Given the description of an element on the screen output the (x, y) to click on. 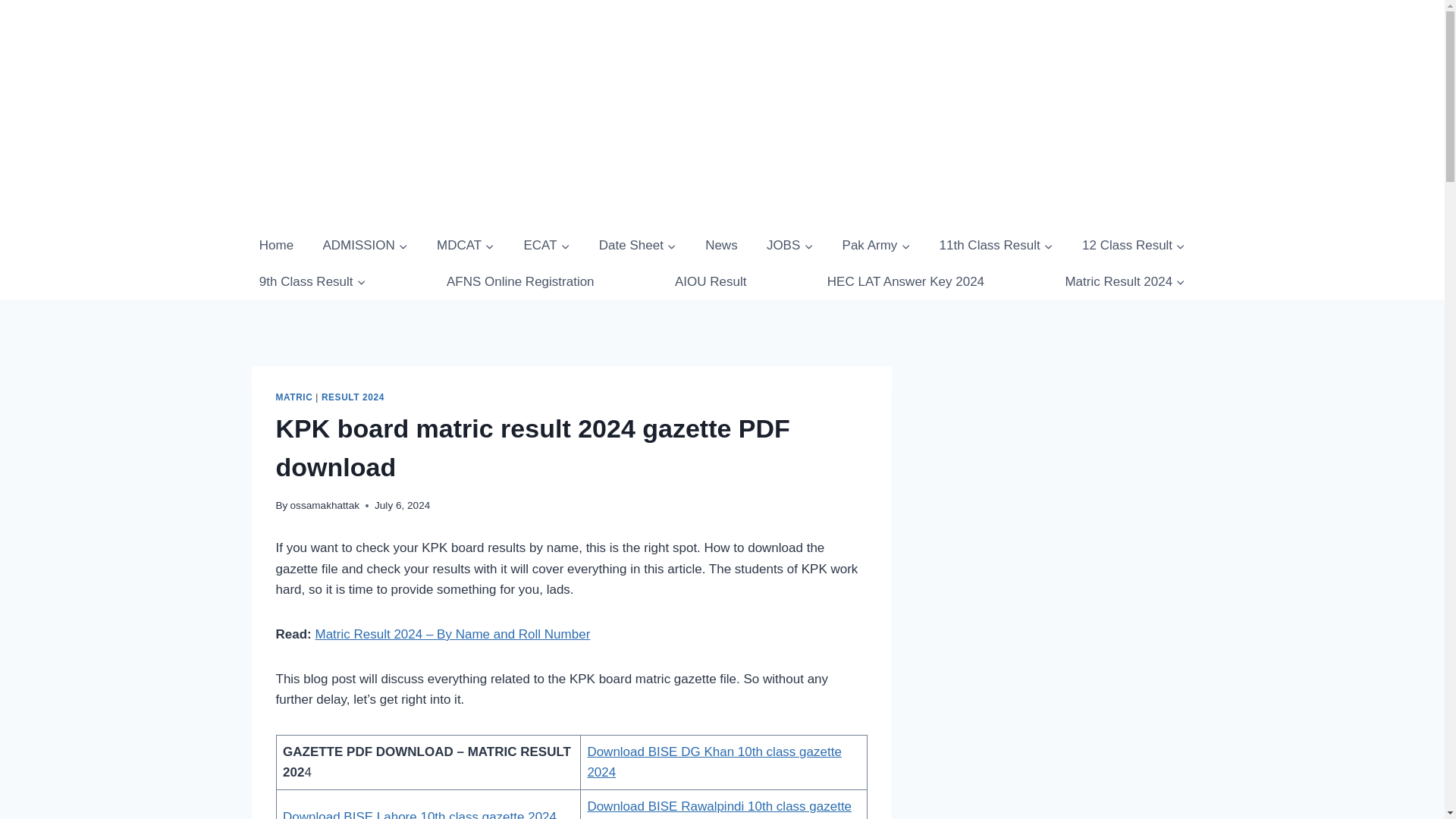
ADMISSION (364, 245)
Home (276, 245)
News (721, 245)
ECAT (546, 245)
Pak Army (875, 245)
MDCAT (465, 245)
Date Sheet (637, 245)
JOBS (789, 245)
